Given the description of an element on the screen output the (x, y) to click on. 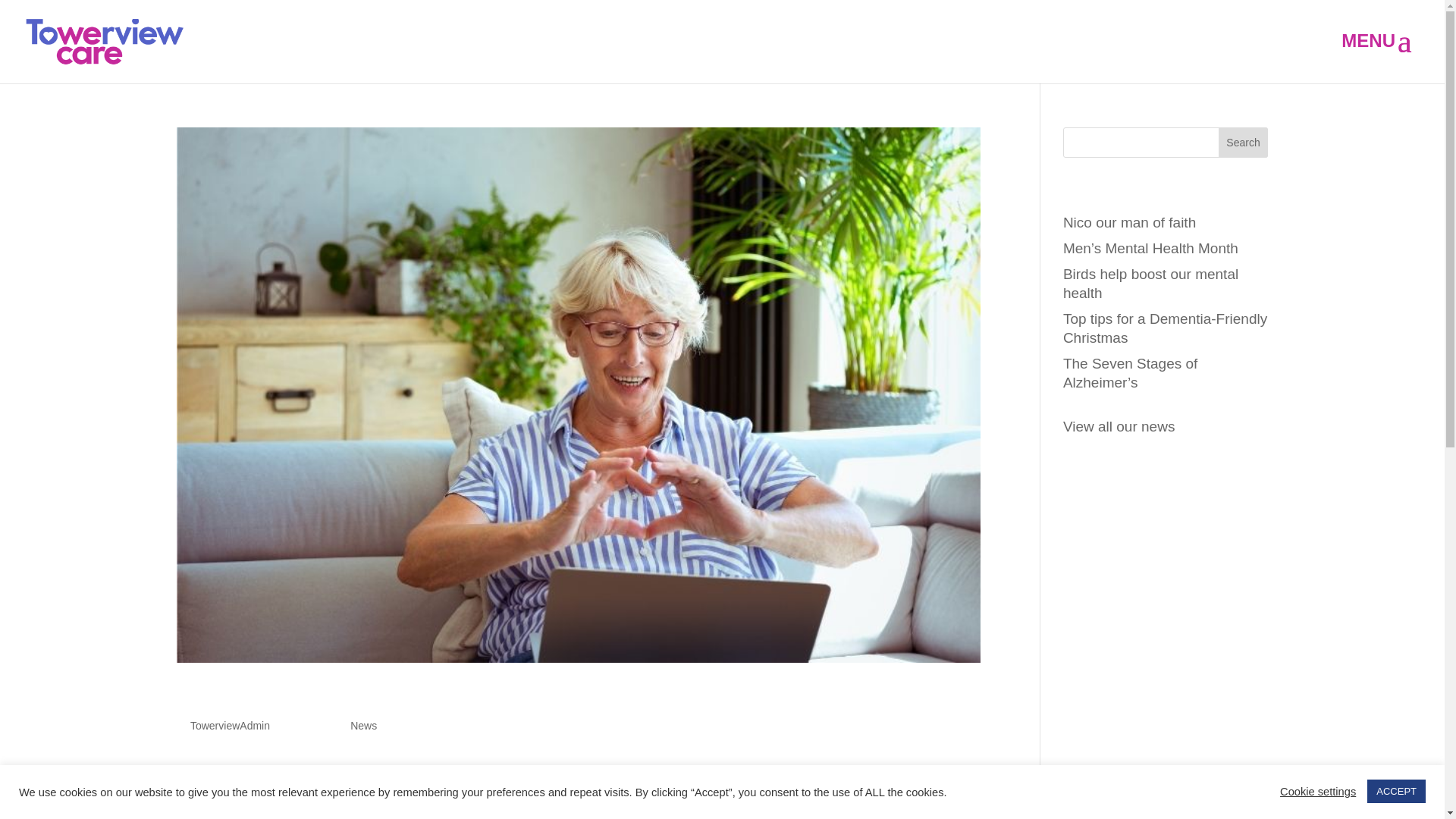
News (363, 726)
Posts by TowerviewAdmin (229, 726)
Hints and tips for video calls (344, 698)
TowerviewAdmin (229, 726)
Birds help boost our mental health (1150, 284)
View all our news (1118, 426)
Top tips for a Dementia-Friendly Christmas (1164, 329)
Search (1243, 142)
Search (1243, 142)
Nico our man of faith (1128, 222)
